Given the description of an element on the screen output the (x, y) to click on. 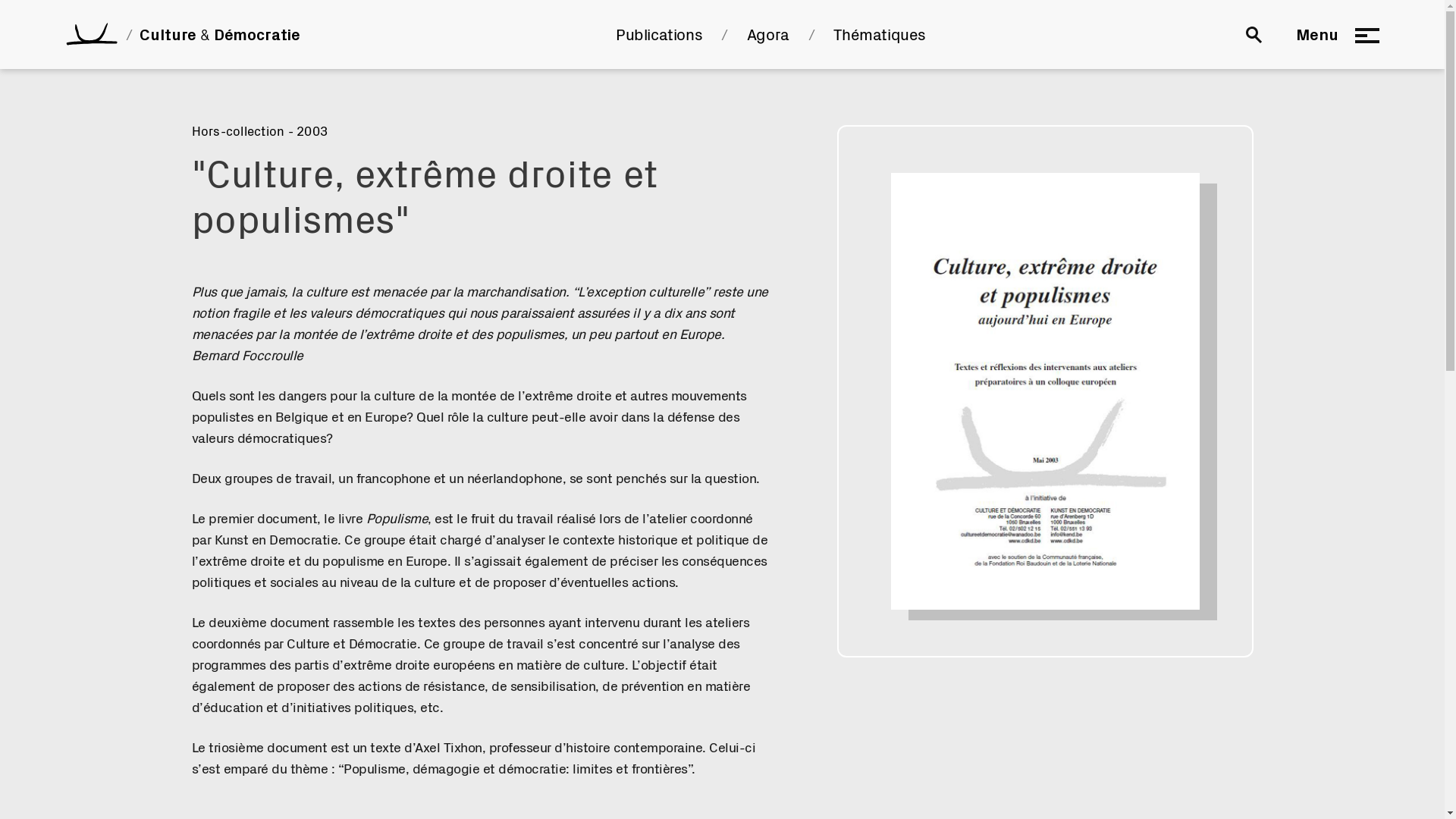
Hors-collection Element type: text (237, 131)
Agora Element type: text (767, 35)
Publications Element type: text (658, 35)
